Given the description of an element on the screen output the (x, y) to click on. 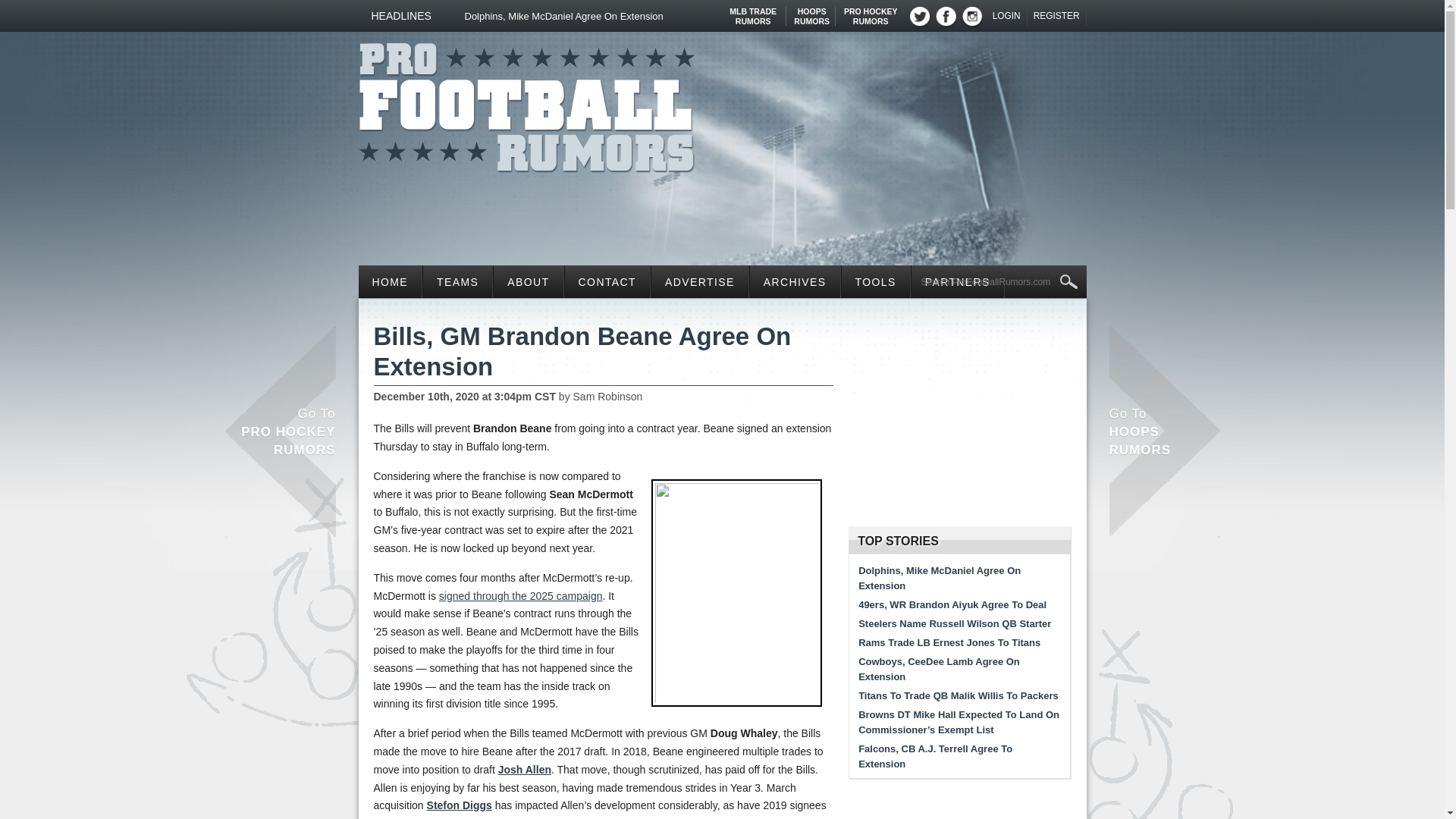
TEAMS (457, 281)
HOME (390, 281)
Pro Football Rumors (526, 103)
Search for: (999, 282)
LOGIN (811, 11)
Dolphins, Mike McDaniel Agree On Extension (1007, 16)
REGISTER (753, 11)
